Given the description of an element on the screen output the (x, y) to click on. 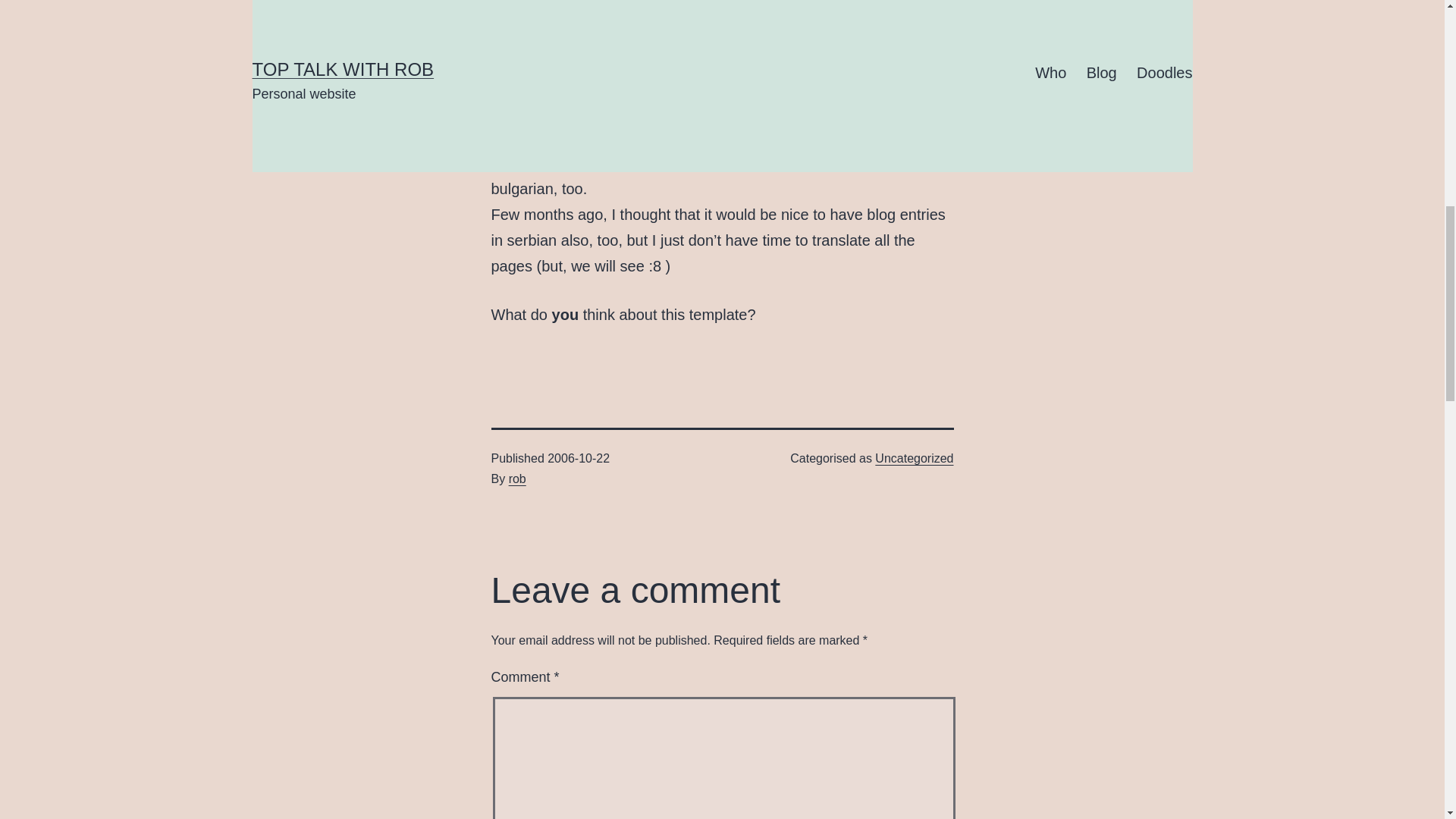
rob (516, 478)
Uncategorized (914, 458)
